Given the description of an element on the screen output the (x, y) to click on. 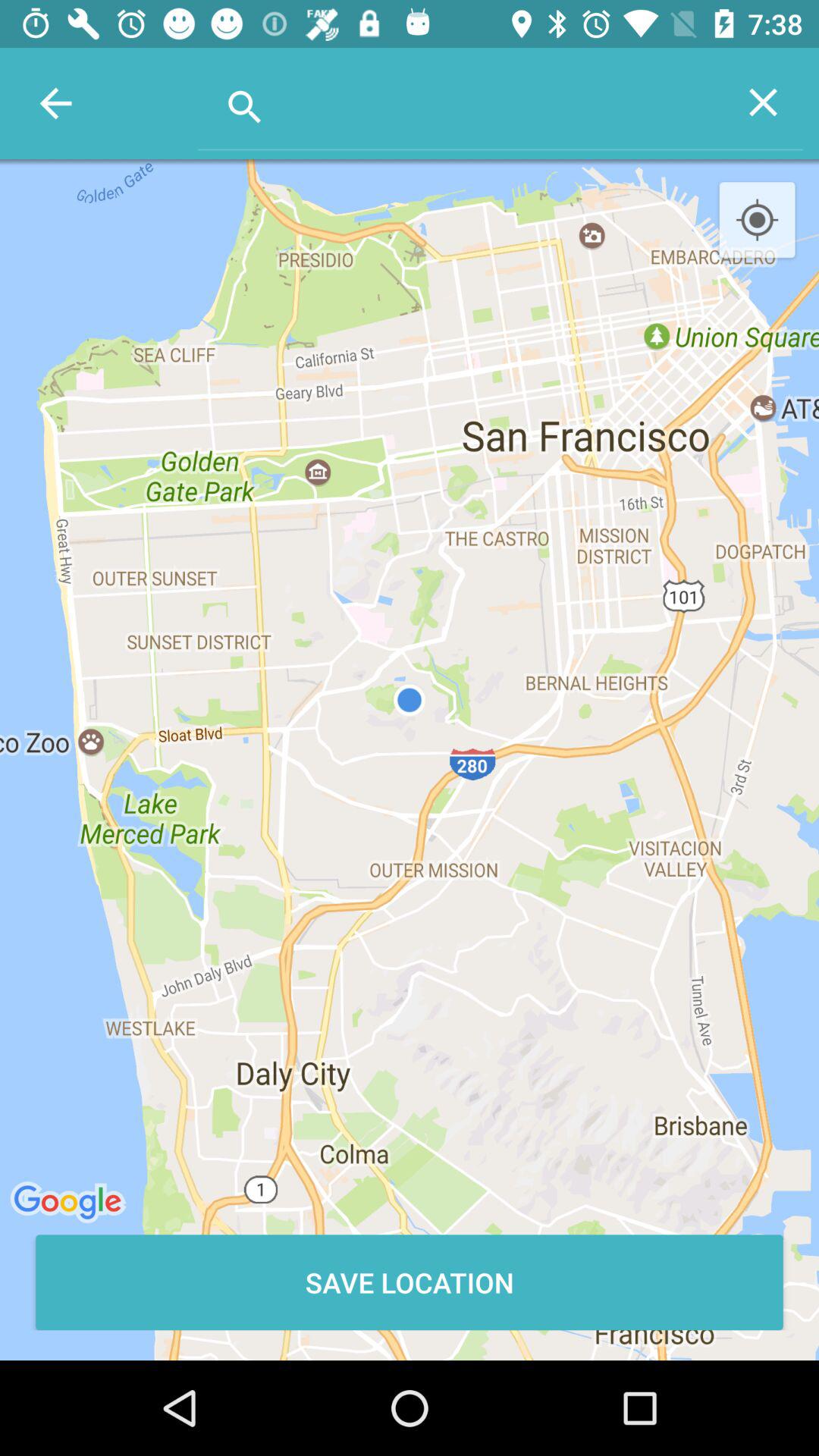
turn on the icon at the top left corner (55, 103)
